Given the description of an element on the screen output the (x, y) to click on. 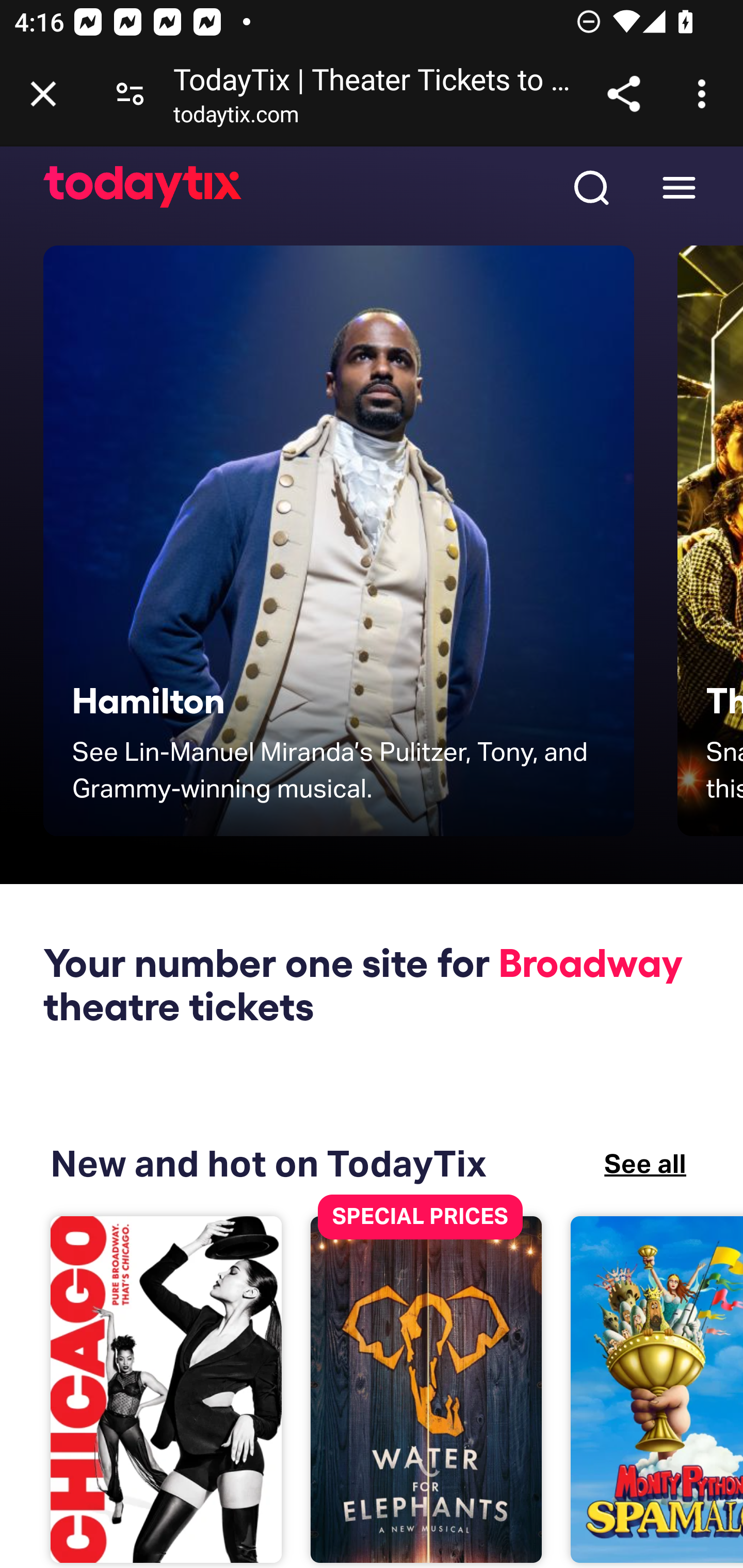
Close tab (43, 93)
Share link address (623, 93)
Customize and control Google Chrome (705, 93)
Connection is secure (129, 93)
todaytix.com (236, 117)
TodayTix Logo (143, 188)
See all (645, 1163)
